Given the description of an element on the screen output the (x, y) to click on. 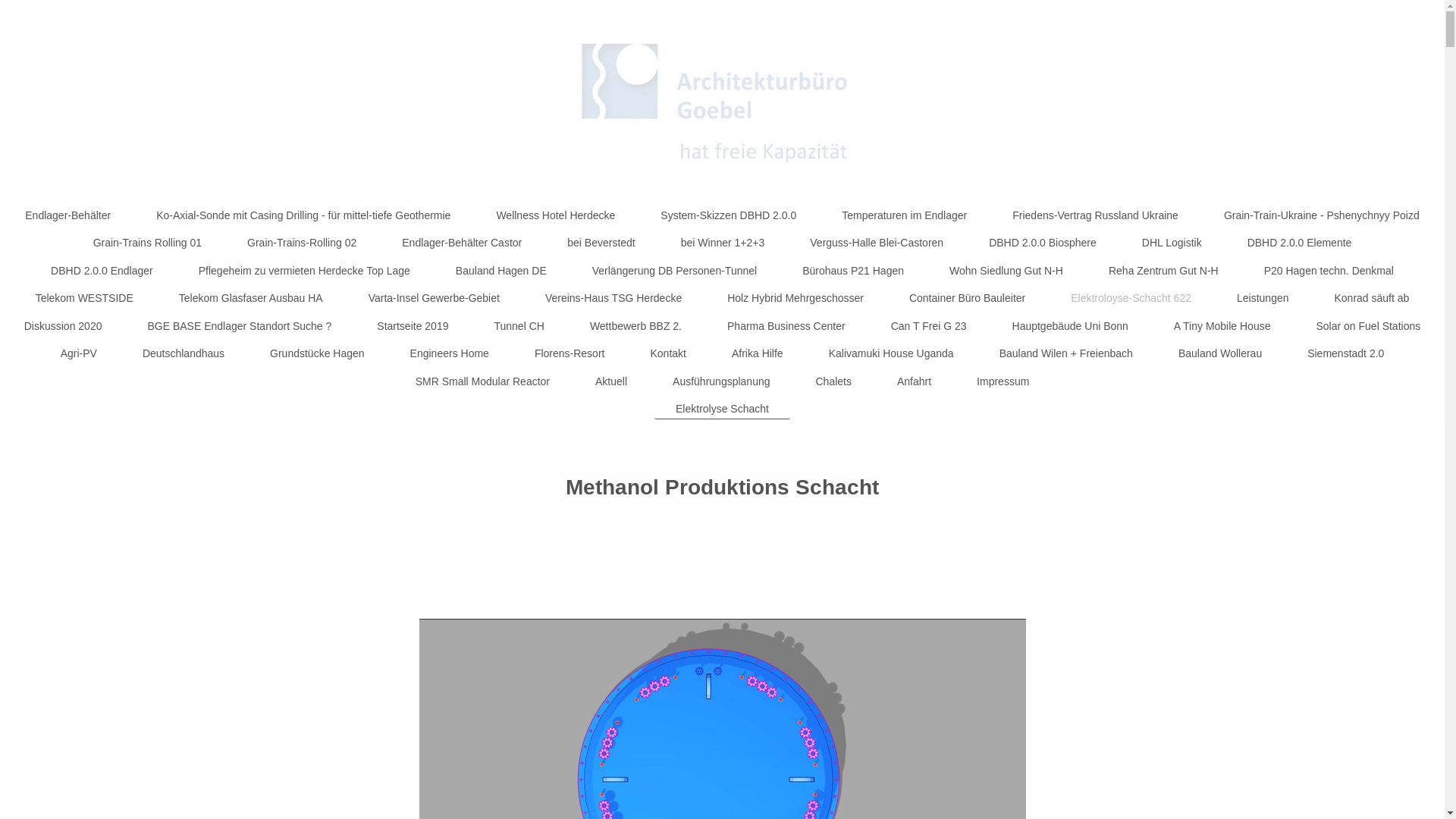
DBHD 2.0.0 Elemente Element type: text (1299, 242)
Verguss-Halle Blei-Castoren Element type: text (876, 242)
bei Beverstedt Element type: text (601, 242)
Leistungen Element type: text (1262, 297)
Holz Hybrid Mehrgeschosser Element type: text (795, 297)
Wellness Hotel Herdecke Element type: text (555, 215)
Friedens-Vertrag Russland Ukraine Element type: text (1095, 215)
Agri-PV Element type: text (78, 353)
Can T Frei G 23 Element type: text (928, 325)
Telekom Glasfaser Ausbau HA Element type: text (250, 297)
Bauland Wollerau Element type: text (1220, 353)
System-Skizzen DBHD 2.0.0 Element type: text (728, 215)
Solar on Fuel Stations Element type: text (1367, 325)
Pflegeheim zu vermieten Herdecke Top Lage Element type: text (304, 270)
Telekom WESTSIDE Element type: text (84, 297)
Tunnel CH Element type: text (518, 325)
Afrika Hilfe Element type: text (757, 353)
Anfahrt Element type: text (913, 381)
Engineers Home Element type: text (449, 353)
Reha Zentrum Gut N-H Element type: text (1163, 270)
Chalets Element type: text (833, 381)
Deutschlandhaus Element type: text (183, 353)
Startseite 2019 Element type: text (412, 325)
Bauland Hagen DE Element type: text (500, 270)
bei Winner 1+2+3 Element type: text (722, 242)
Varta-Insel Gewerbe-Gebiet Element type: text (433, 297)
DHL Logistik Element type: text (1171, 242)
Florens-Resort Element type: text (569, 353)
SMR Small Modular Reactor Element type: text (482, 381)
Impressum Element type: text (1002, 381)
Temperaturen im Endlager Element type: text (904, 215)
Bauland Wilen + Freienbach Element type: text (1066, 353)
Grain-Trains Rolling 01 Element type: text (147, 242)
Vereins-Haus TSG Herdecke Element type: text (613, 297)
Elektrolyse Schacht Element type: text (722, 408)
Wettbewerb BBZ 2. Element type: text (635, 325)
Diskussion 2020 Element type: text (63, 325)
P20 Hagen techn. Denkmal Element type: text (1328, 270)
Pharma Business Center Element type: text (786, 325)
Kalivamuki House Uganda Element type: text (891, 353)
Grain-Train-Ukraine - Pshenychnyy Poizd Element type: text (1321, 215)
Aktuell Element type: text (611, 381)
DBHD 2.0.0 Endlager Element type: text (101, 270)
DBHD 2.0.0 Biosphere Element type: text (1042, 242)
Siemenstadt 2.0 Element type: text (1345, 353)
BGE BASE Endlager Standort Suche ? Element type: text (238, 325)
A Tiny Mobile House Element type: text (1222, 325)
Grain-Trains-Rolling 02 Element type: text (301, 242)
Wohn Siedlung Gut N-H Element type: text (1006, 270)
Kontakt Element type: text (667, 353)
Elektroloyse-Schacht 622 Element type: text (1130, 297)
